Given the description of an element on the screen output the (x, y) to click on. 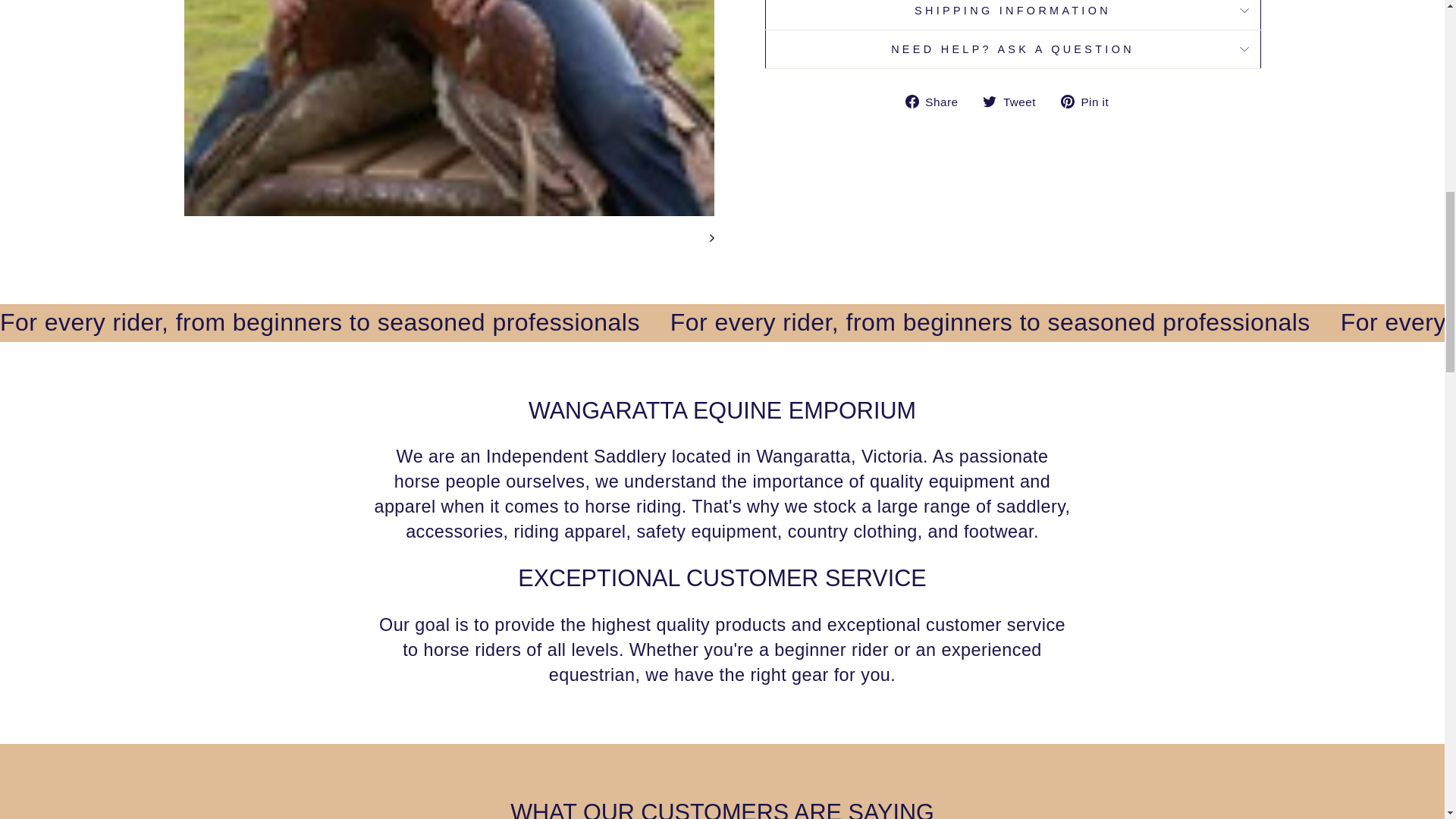
Pin on Pinterest (1090, 100)
Share on Facebook (937, 100)
Tweet on Twitter (1014, 100)
twitter (988, 101)
